Given the description of an element on the screen output the (x, y) to click on. 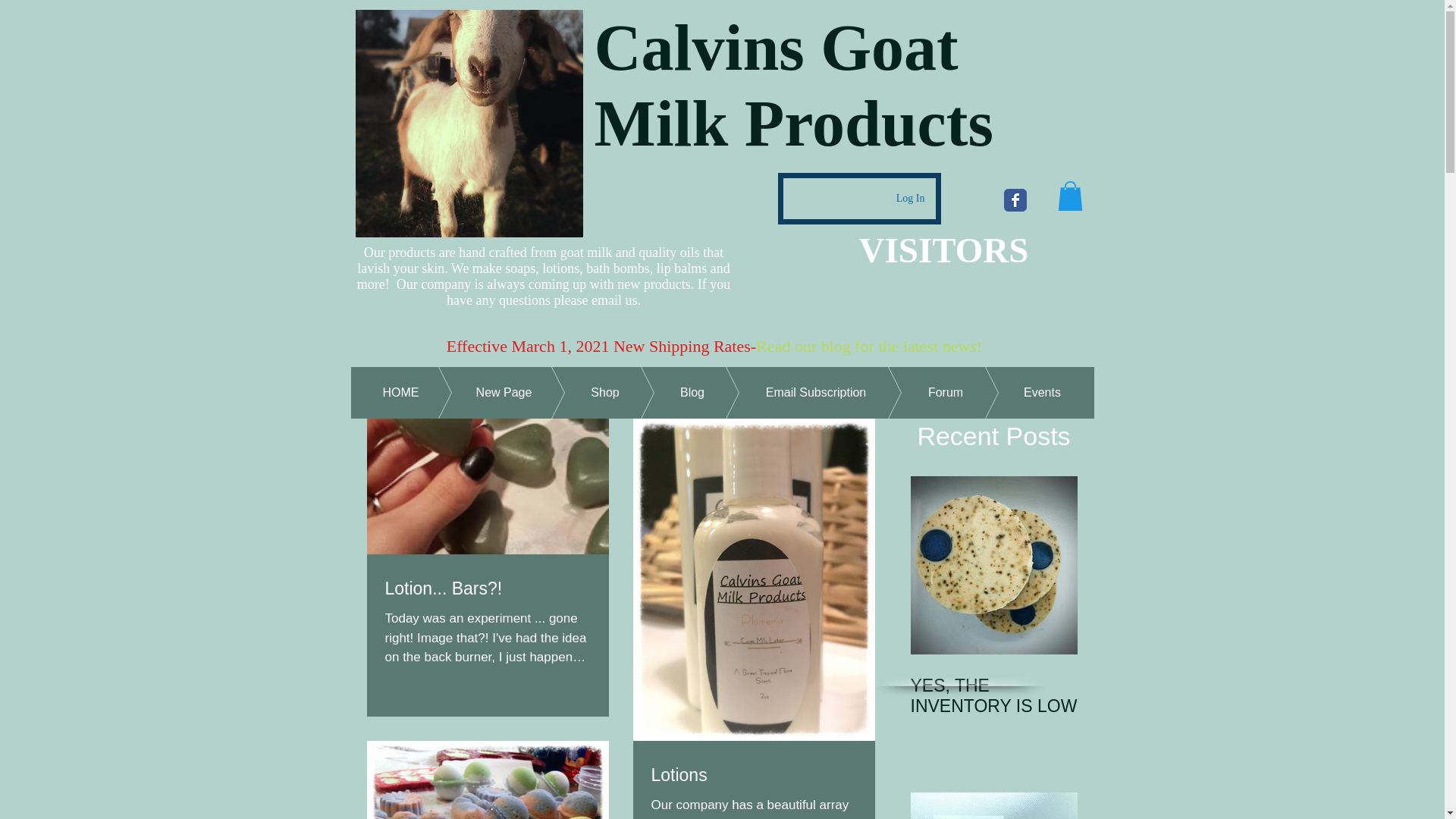
Lotion... Bars?! (488, 588)
Lotions (753, 774)
Blog (668, 392)
Log In (910, 198)
Shop (581, 392)
Events (1018, 392)
New Page (481, 392)
Email Subscription (792, 392)
YES, THE INVENTORY IS LOW (993, 695)
HOME (399, 392)
Forum (922, 392)
